Given the description of an element on the screen output the (x, y) to click on. 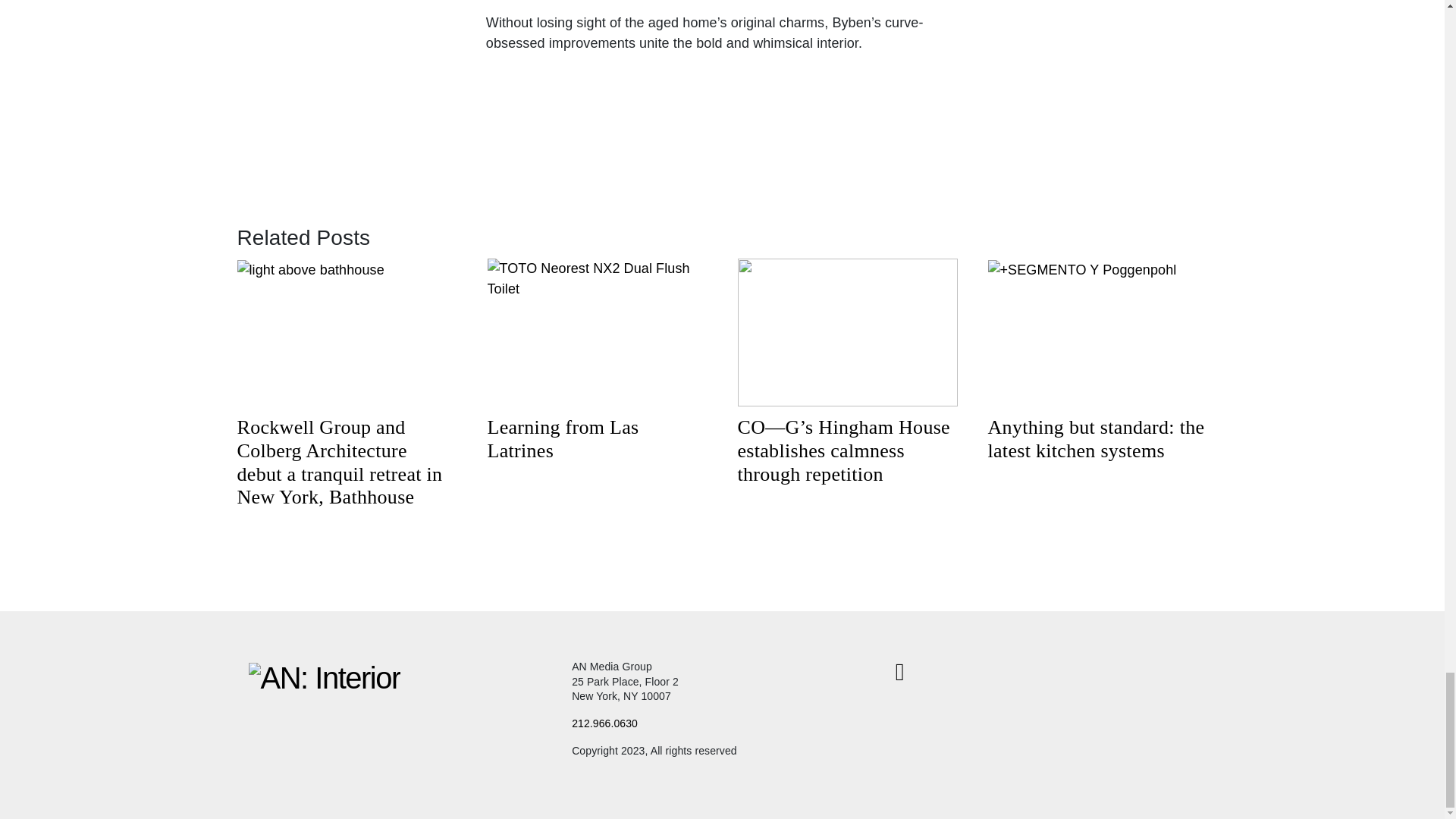
Learning from Las Latrines (562, 438)
Anything but standard: the latest kitchen systems (1095, 438)
212.966.0630 (604, 723)
